Given the description of an element on the screen output the (x, y) to click on. 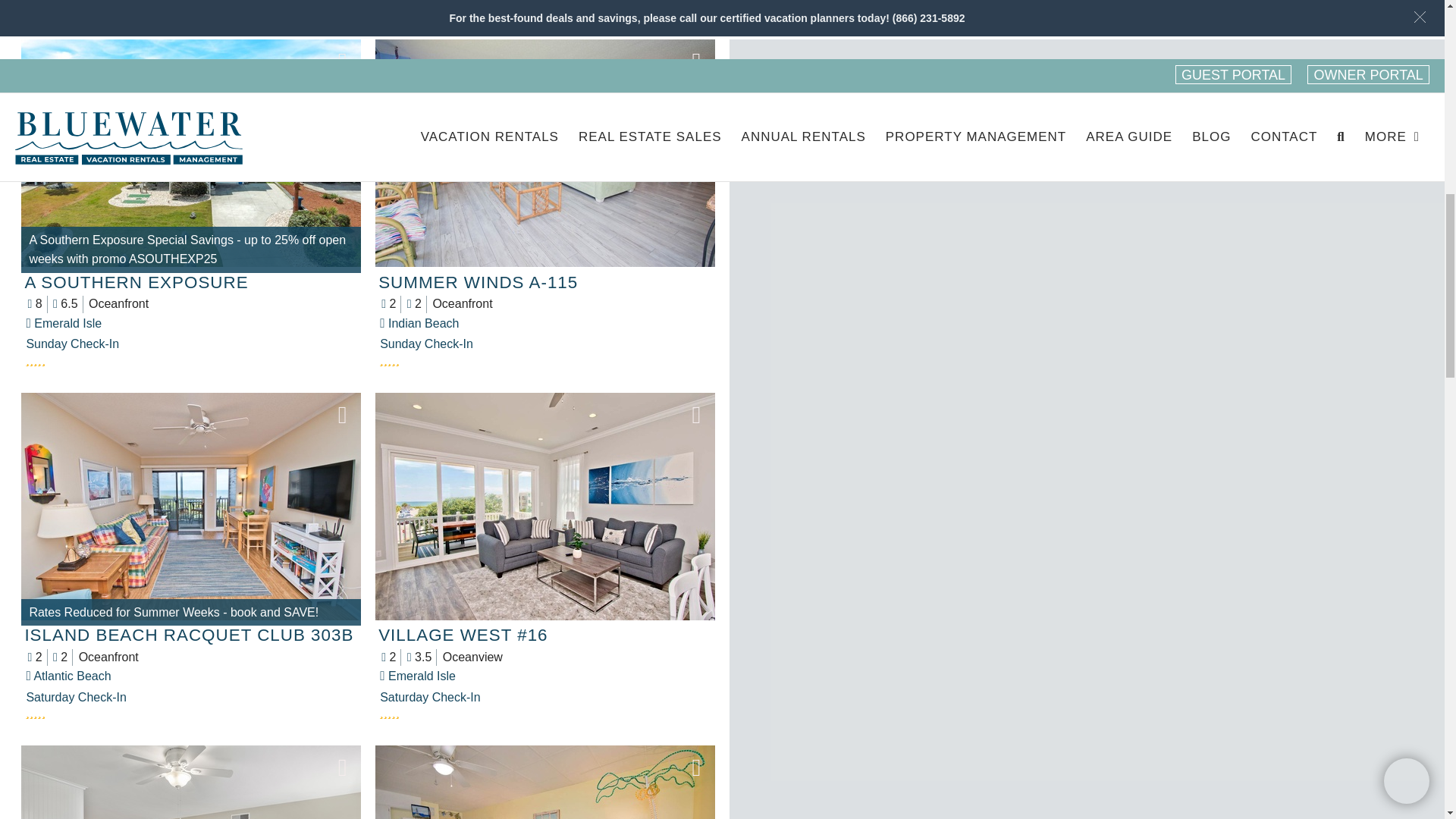
Favorite (697, 414)
Favorite (342, 61)
Favorite (697, 61)
5 (546, 360)
5 (546, 713)
Favorite (342, 767)
Favorite (697, 767)
Favorite (342, 414)
5 (192, 713)
5 (192, 360)
